Given the description of an element on the screen output the (x, y) to click on. 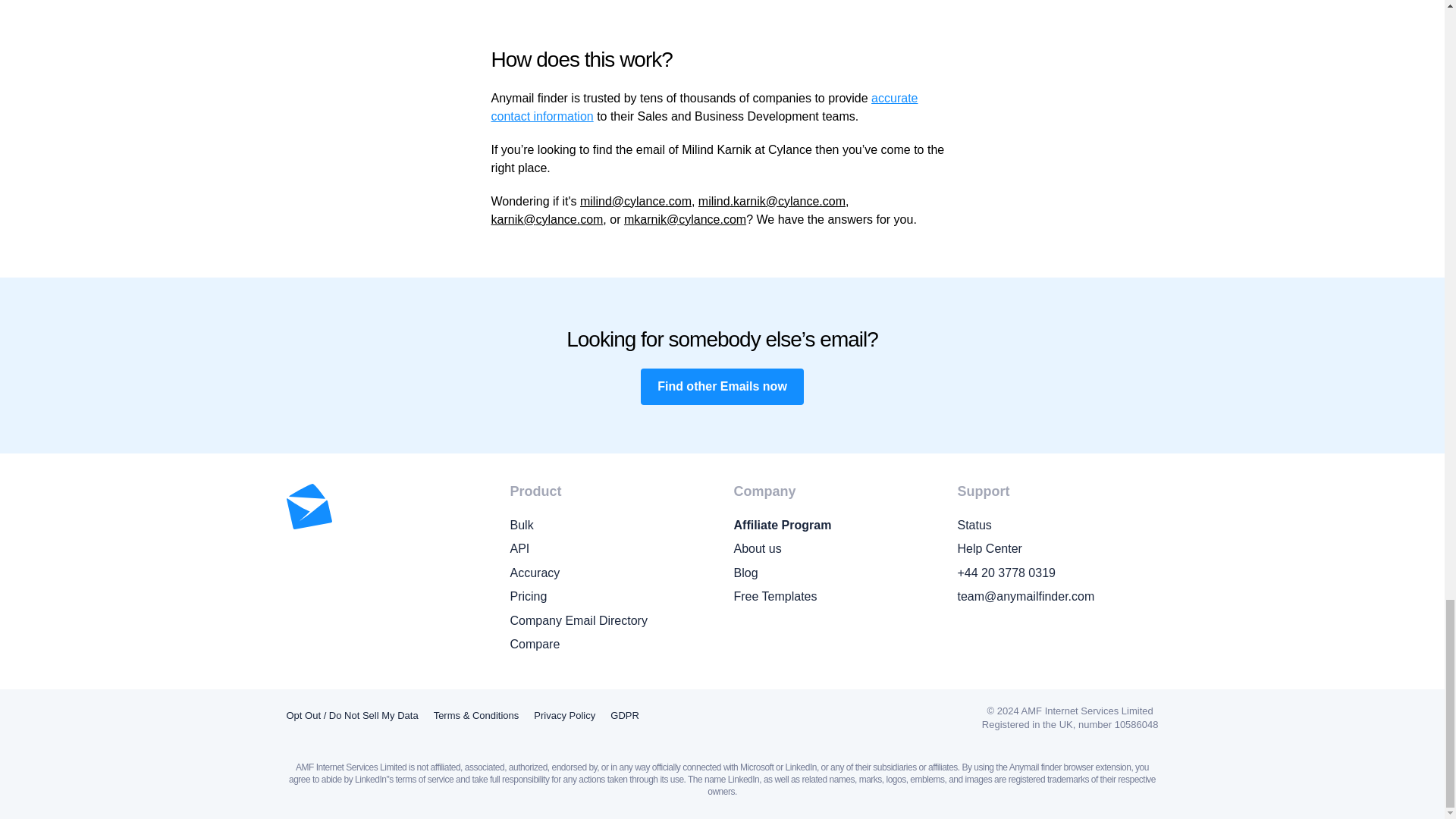
Bulk (609, 525)
Find other Emails now (721, 386)
accurate contact information (705, 106)
